Given the description of an element on the screen output the (x, y) to click on. 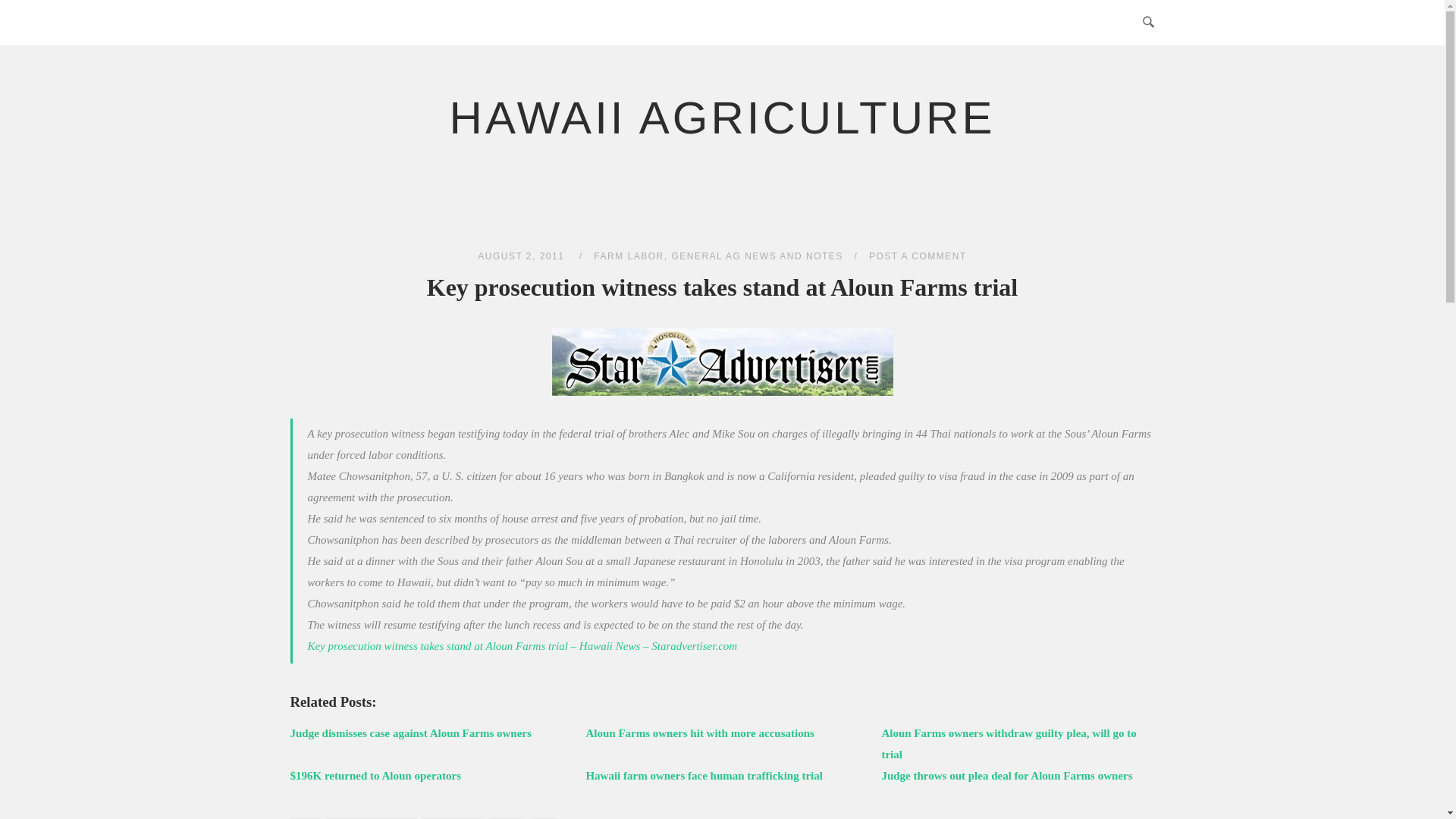
Hawaii farm owners face human trafficking trial (703, 775)
HAWAII AGRICULTURE (722, 117)
sou (542, 818)
Mike (505, 818)
Alec and Mike Sou (370, 818)
Hawaii farm owners face human trafficking trial (703, 775)
FARM LABOR (628, 255)
alec (304, 818)
Judge throws out plea deal for Aloun Farms owners (1006, 775)
sa (722, 361)
